Given the description of an element on the screen output the (x, y) to click on. 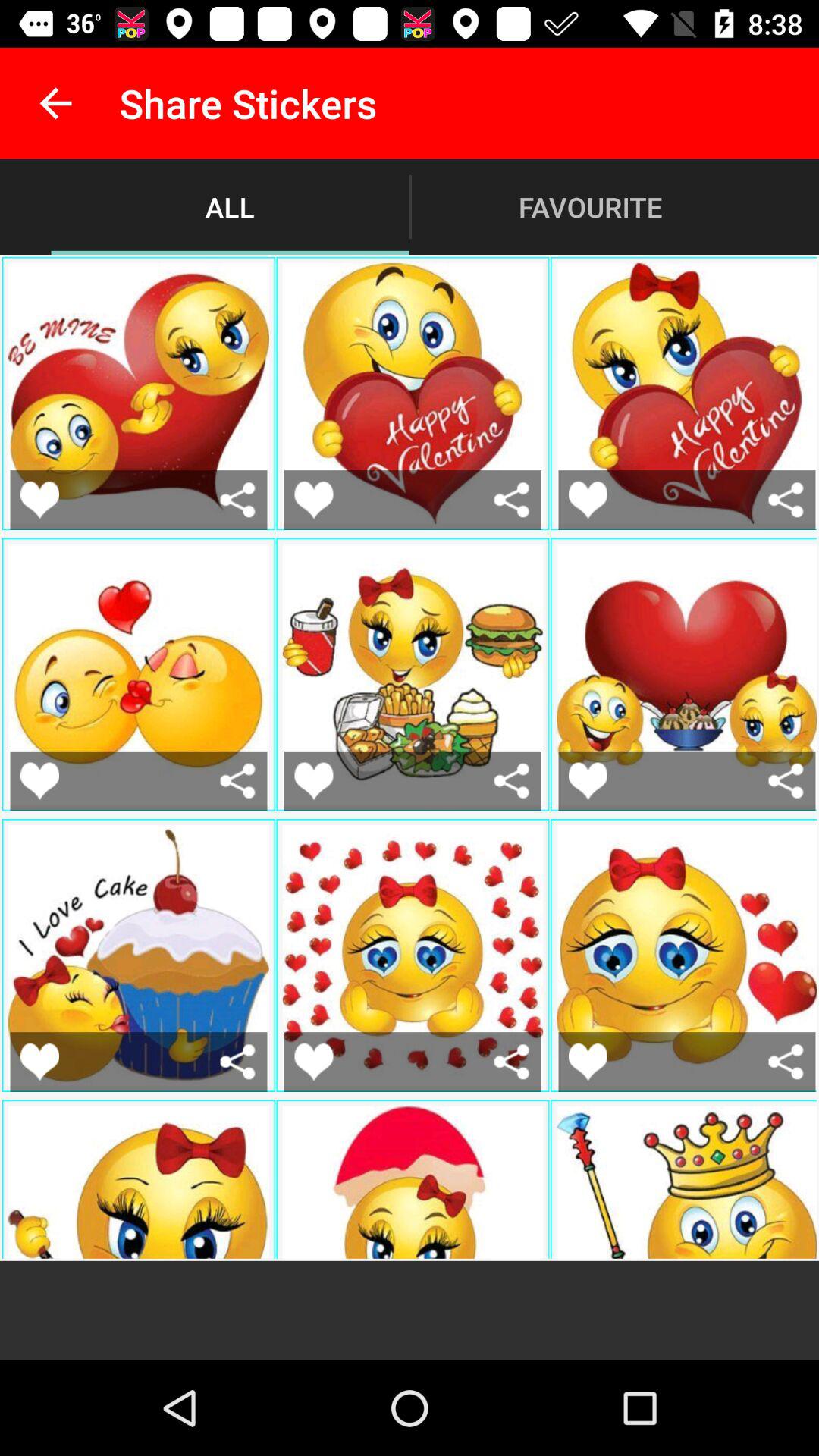
share (511, 1061)
